Given the description of an element on the screen output the (x, y) to click on. 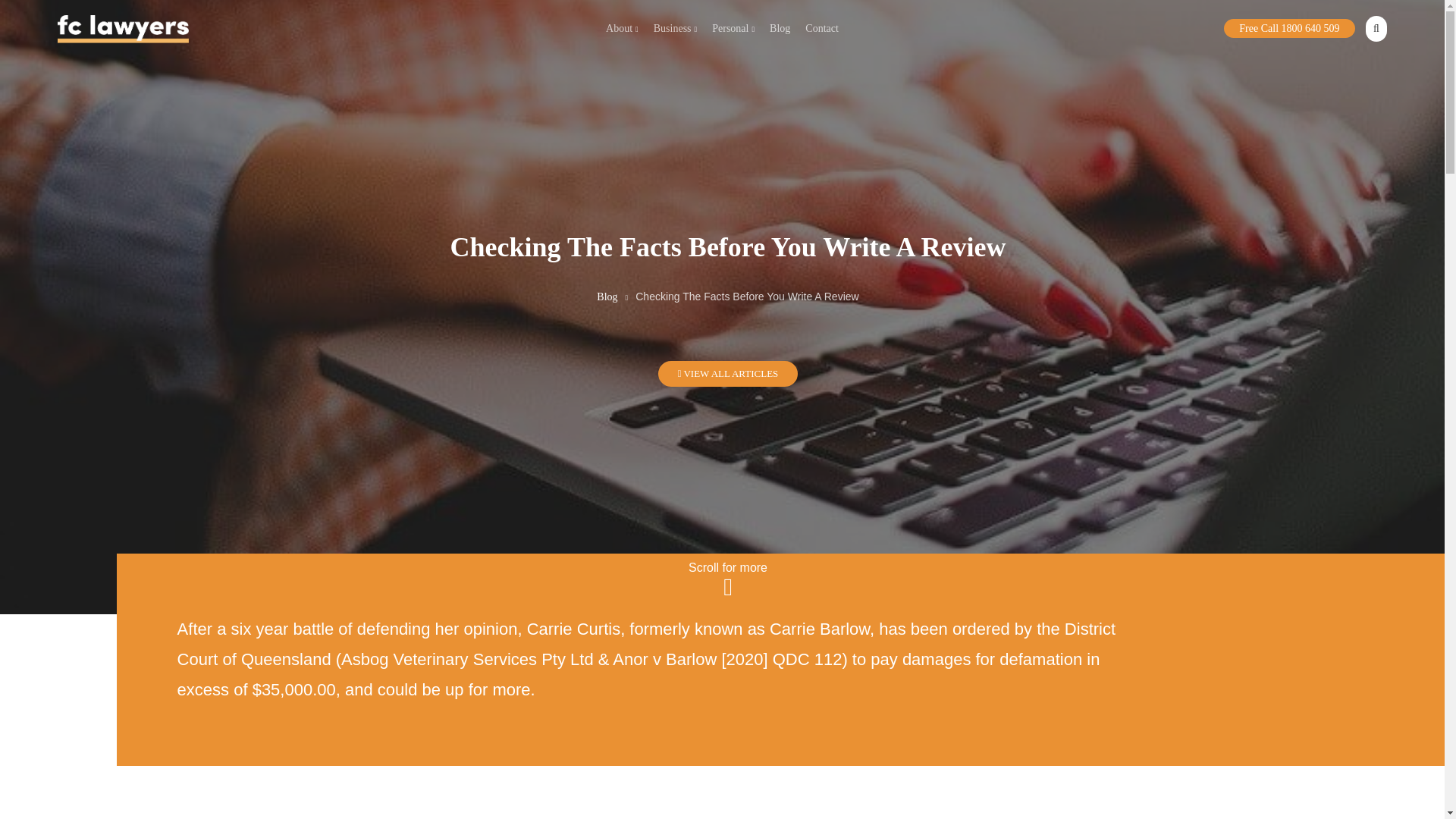
Business (675, 28)
Scroll for more (727, 579)
Blog (606, 296)
About (622, 28)
VIEW ALL ARTICLES (727, 373)
Blog (779, 28)
Contact (821, 28)
Free Call 1800 640 509 (1289, 27)
Personal (732, 28)
